Given the description of an element on the screen output the (x, y) to click on. 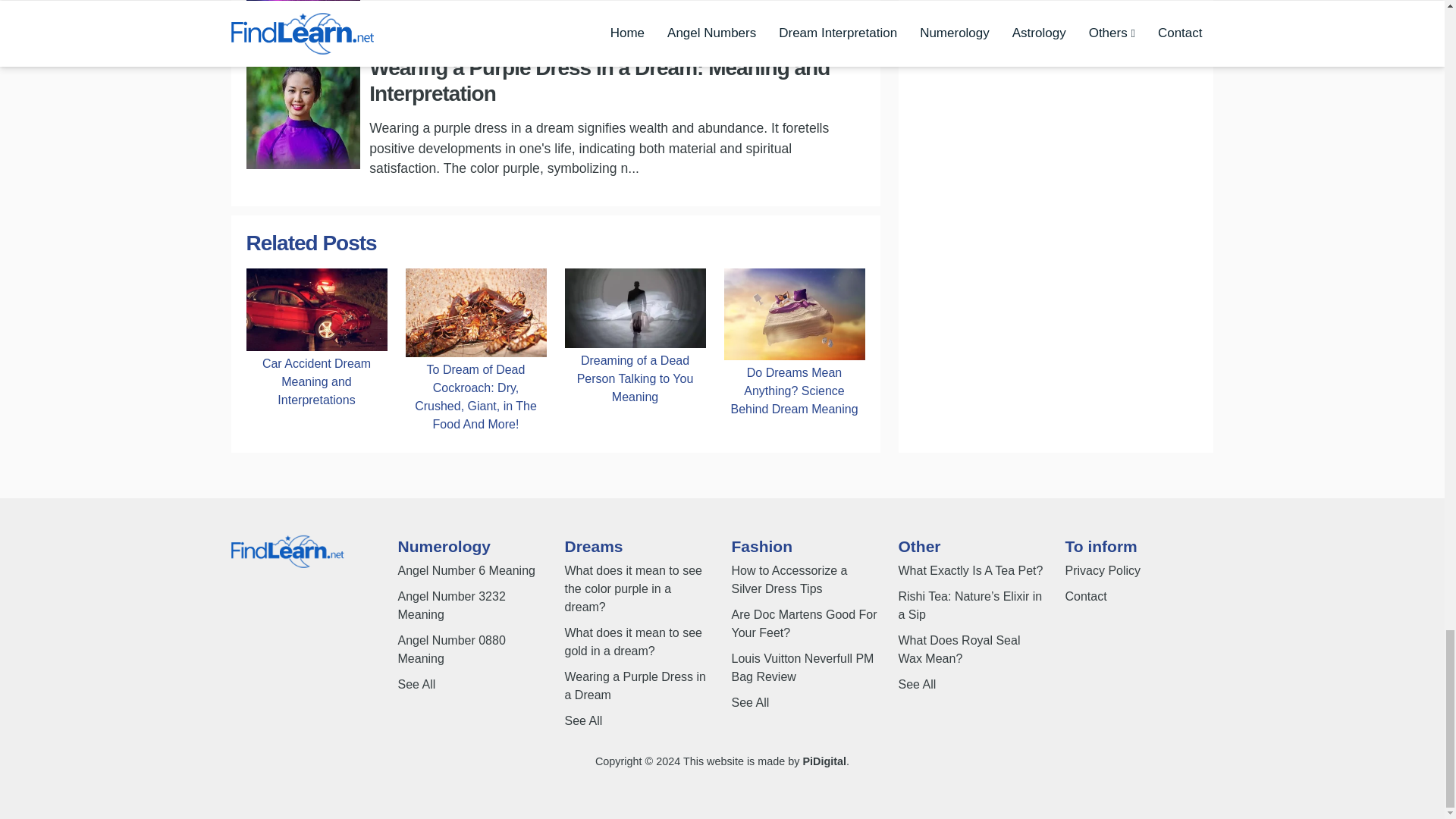
Dreaming of a Dead Person Talking to You Meaning (634, 379)
Car Accident Dream Meaning and Interpretations (316, 381)
Car Accident Dream Meaning and Interpretations (316, 308)
Do Dreams Mean Anything? Science Behind Dream Meaning (793, 391)
